Given the description of an element on the screen output the (x, y) to click on. 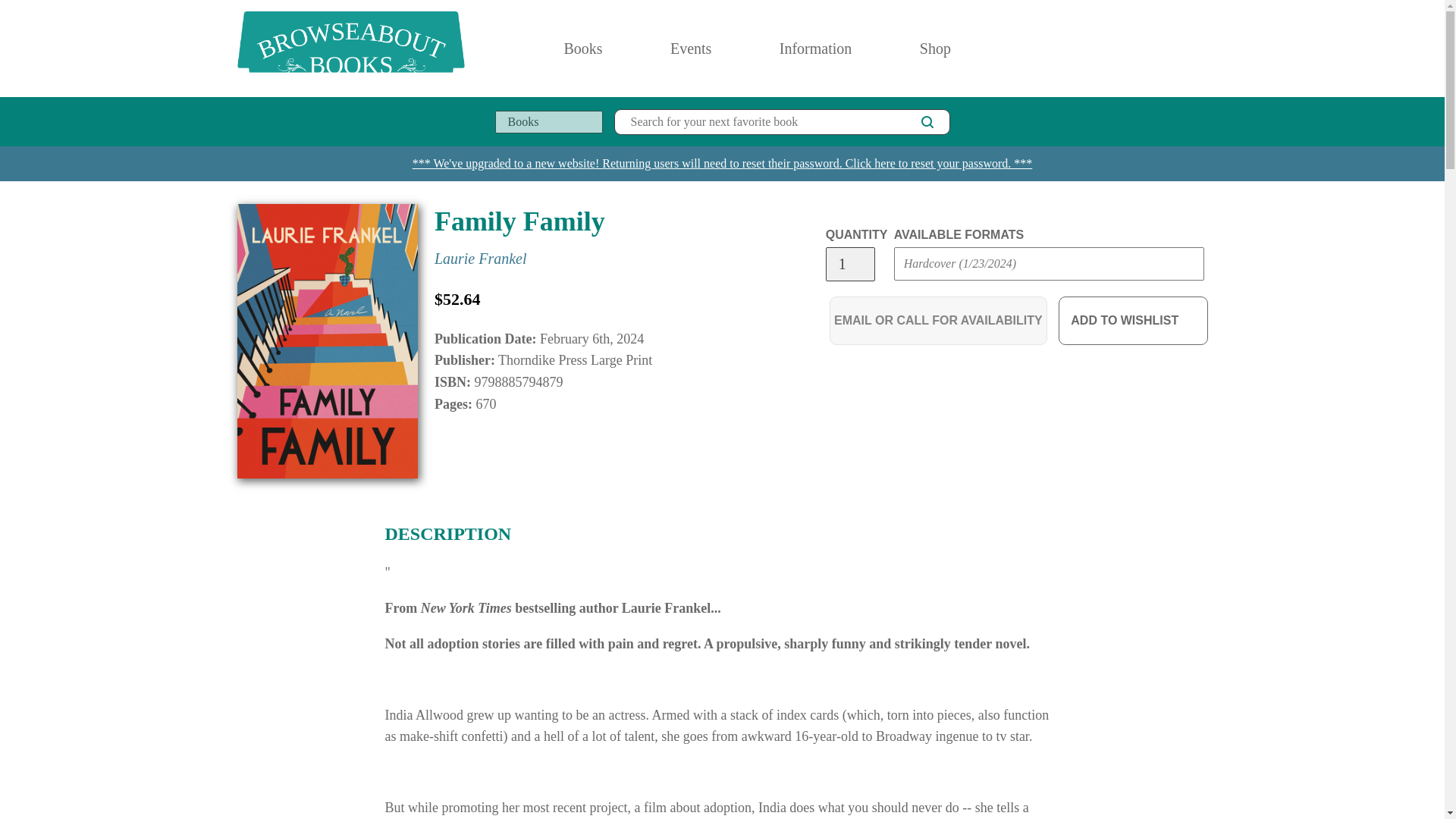
Wishlist (1168, 48)
ADD TO WISHLIST (1133, 320)
Log in (1134, 48)
Events (691, 48)
Cart (1201, 48)
Email or Call for Availability (937, 320)
Log in (1134, 48)
Cart (1201, 48)
Submit (922, 293)
